Given the description of an element on the screen output the (x, y) to click on. 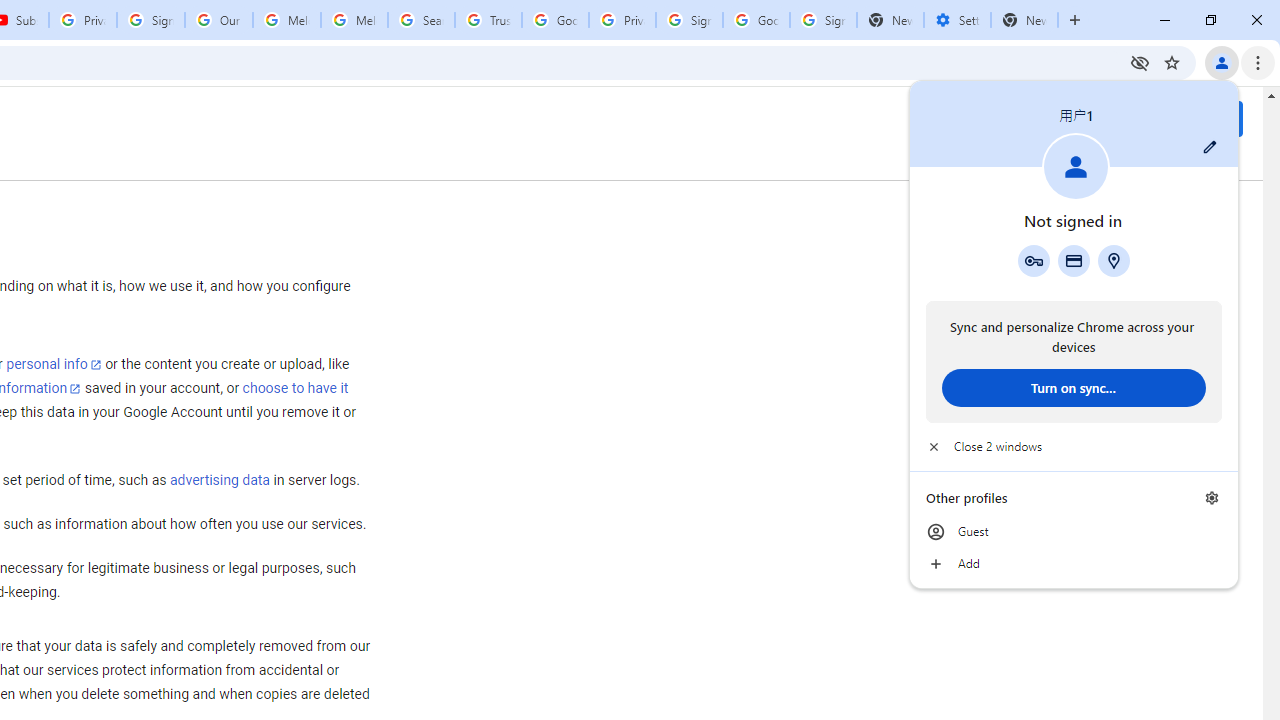
Settings - Addresses and more (957, 20)
Payment methods (1074, 260)
personal info (54, 364)
New Tab (1024, 20)
Google Password Manager (1033, 260)
Manage profiles (1211, 498)
Google Ads - Sign in (555, 20)
Trusted Information and Content - Google Safety Center (488, 20)
